Given the description of an element on the screen output the (x, y) to click on. 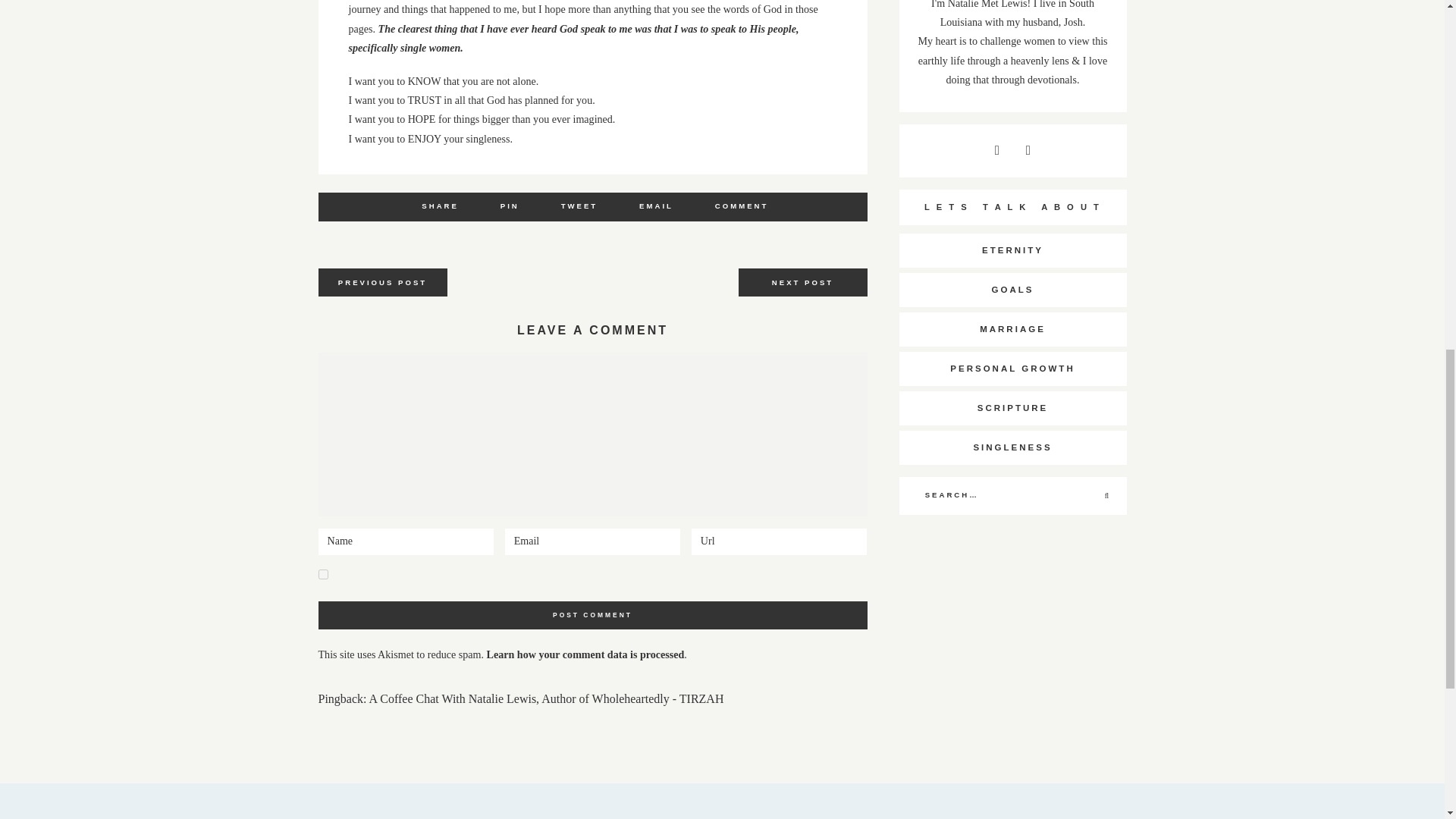
SHARE (440, 205)
PIN (509, 205)
Facebook (440, 205)
Search for: (1012, 495)
MARRIAGE (1012, 329)
Post Comment (592, 615)
Post Comment (592, 615)
GOALS (1012, 289)
NEXT POST (802, 282)
